Given the description of an element on the screen output the (x, y) to click on. 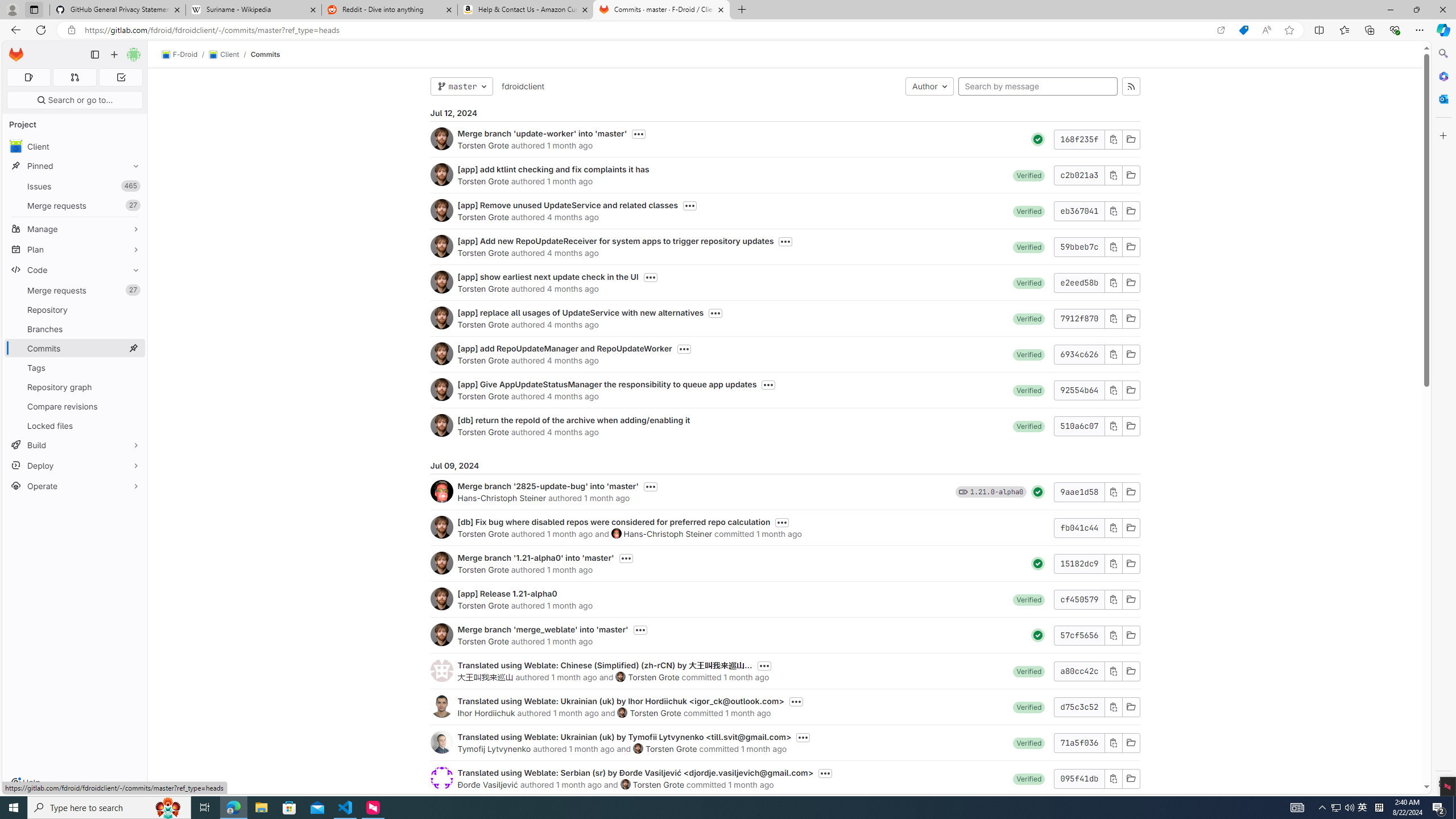
Create new... (113, 54)
F-Droid/ (185, 54)
Pipeline: passed (1037, 635)
Ihor Hordiichuk (486, 712)
Tags (74, 367)
Open in app (1220, 29)
Class: s16 (1130, 777)
[app] add ktlint checking and fix complaints it has (553, 168)
Repository graph (74, 386)
fdroidclient (522, 85)
